Given the description of an element on the screen output the (x, y) to click on. 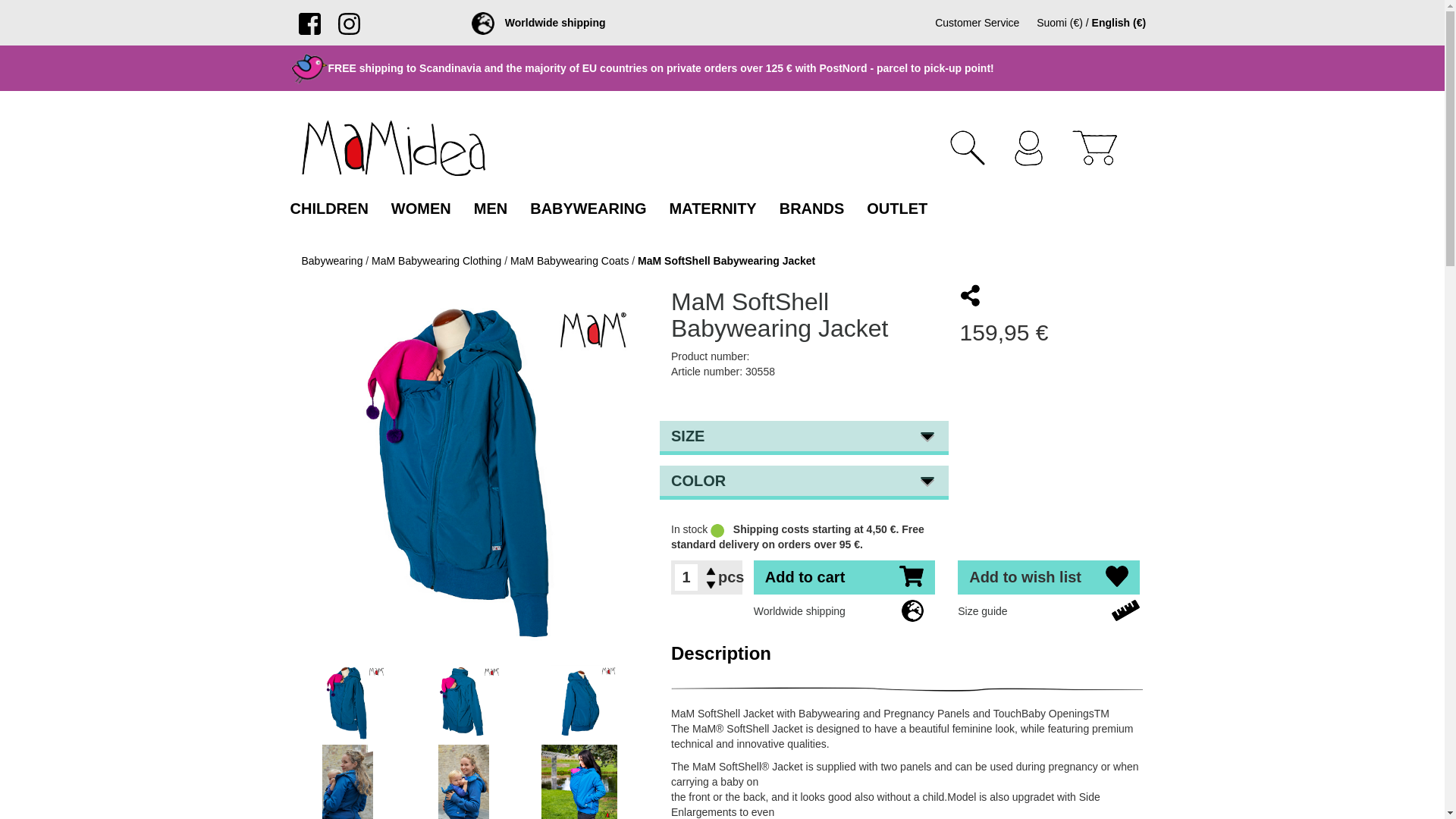
Worldwide shipping (538, 22)
Log in (1039, 148)
WOMEN (421, 208)
MaM SoftShell Babywearing Jacket (463, 473)
CHILDREN (329, 208)
1 (686, 577)
Search from our products... (978, 147)
Cart (1105, 147)
Customer Service (976, 22)
MEN (490, 208)
BABYWEARING (588, 208)
